Given the description of an element on the screen output the (x, y) to click on. 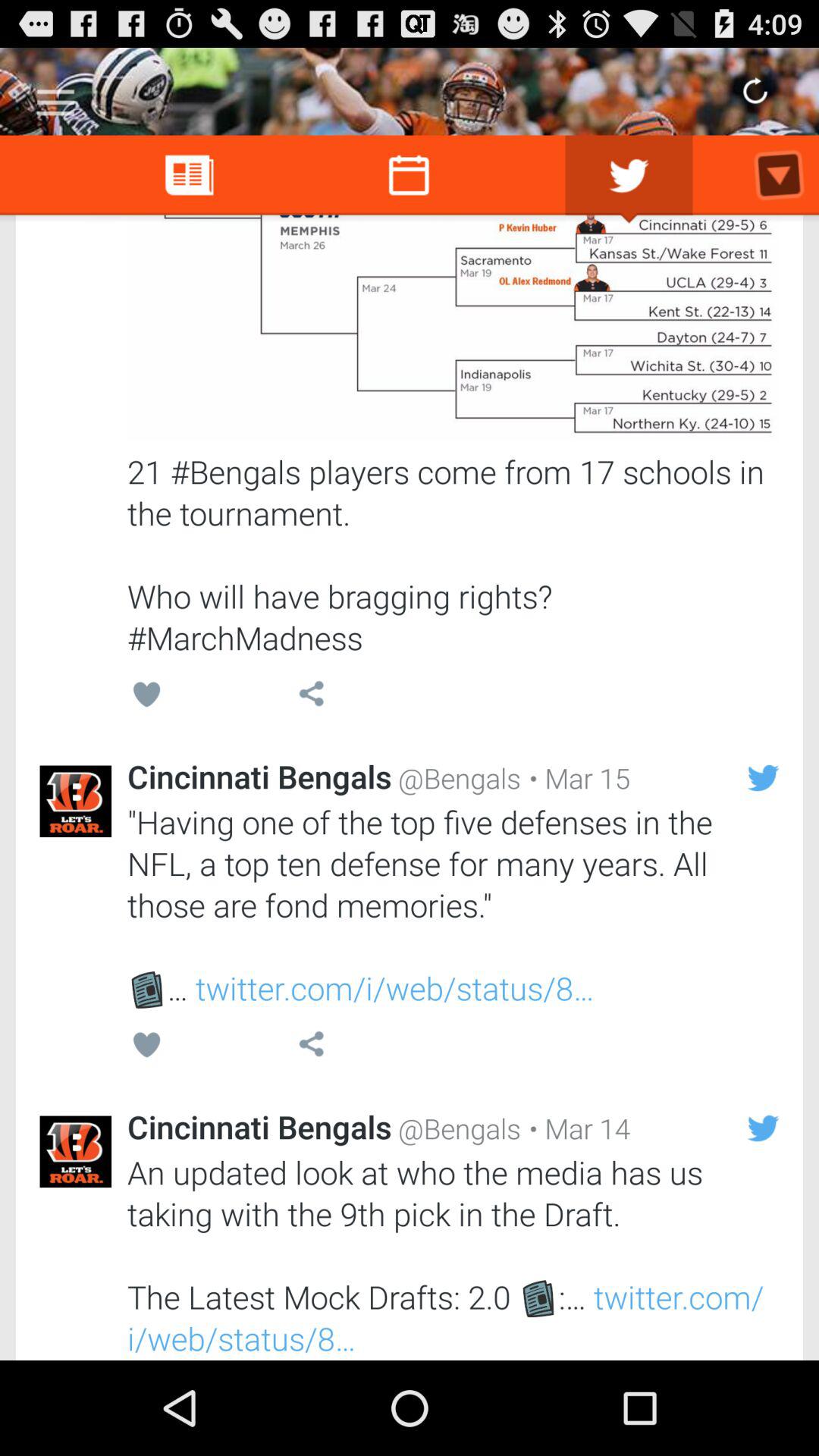
menu options (55, 97)
